Given the description of an element on the screen output the (x, y) to click on. 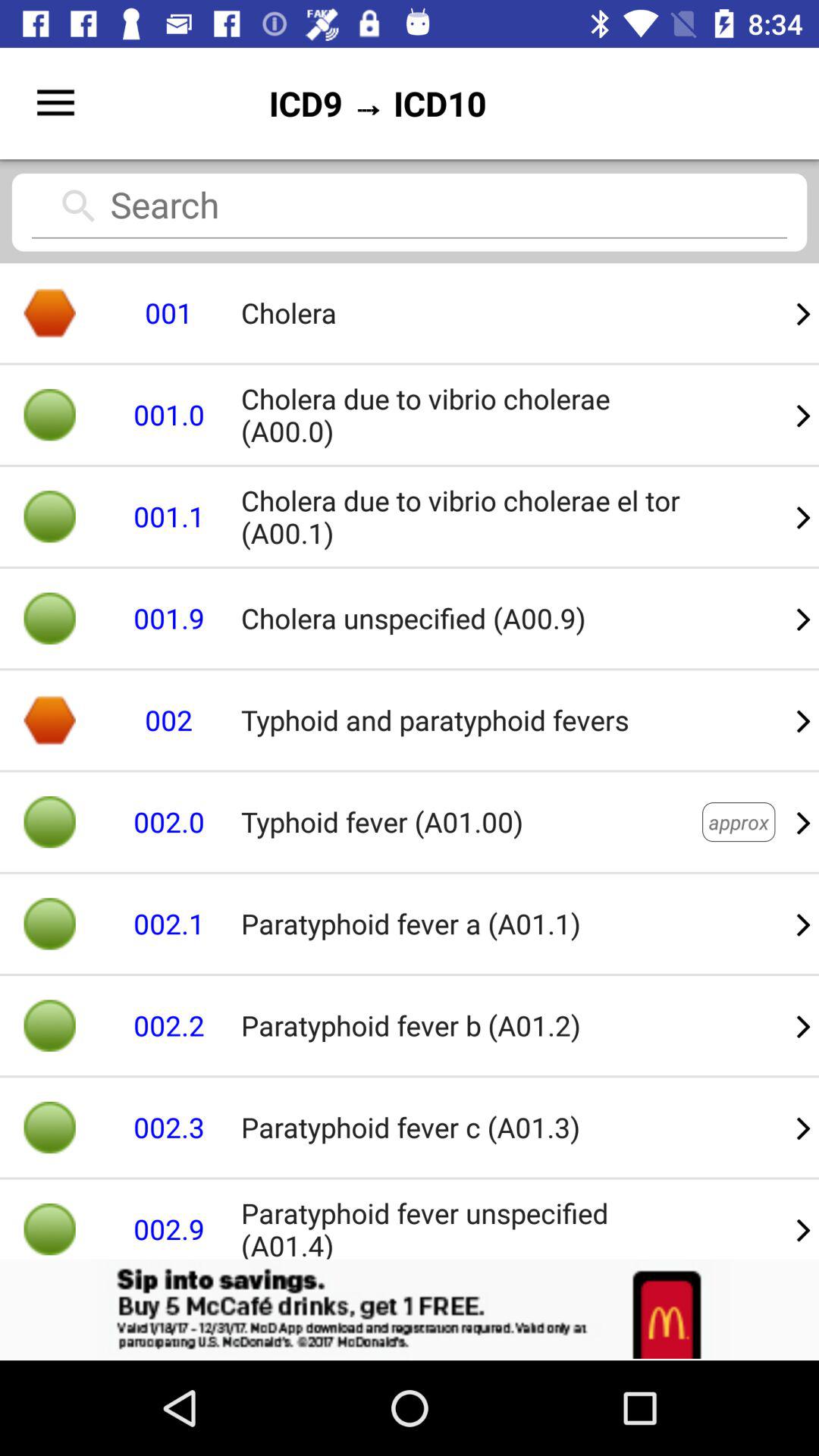
adsense button (409, 1309)
